Given the description of an element on the screen output the (x, y) to click on. 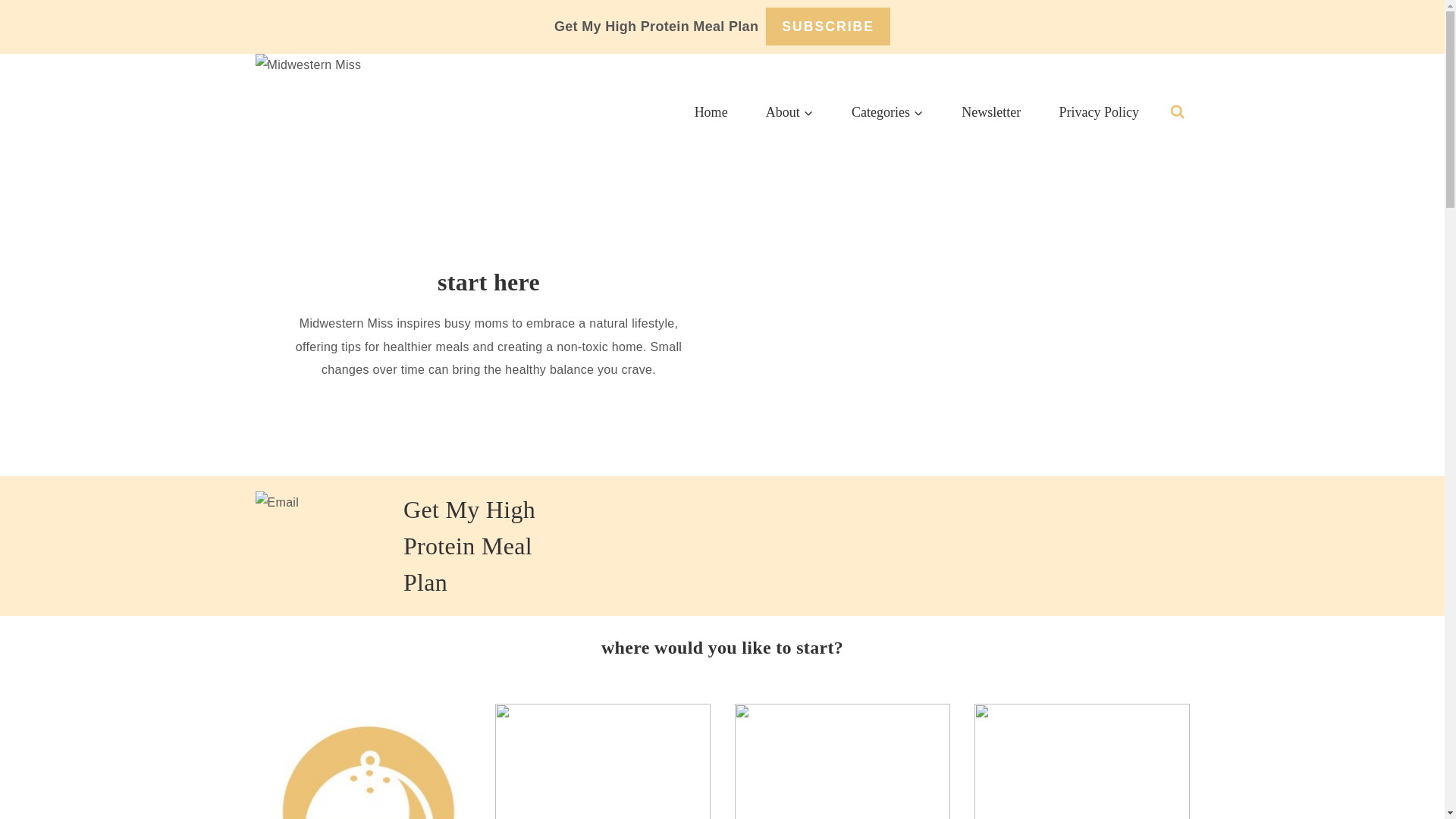
Privacy Policy (1098, 111)
Newsletter (990, 111)
Categories (887, 111)
About (789, 111)
SUBSCRIBE (827, 26)
Home (710, 111)
